Given the description of an element on the screen output the (x, y) to click on. 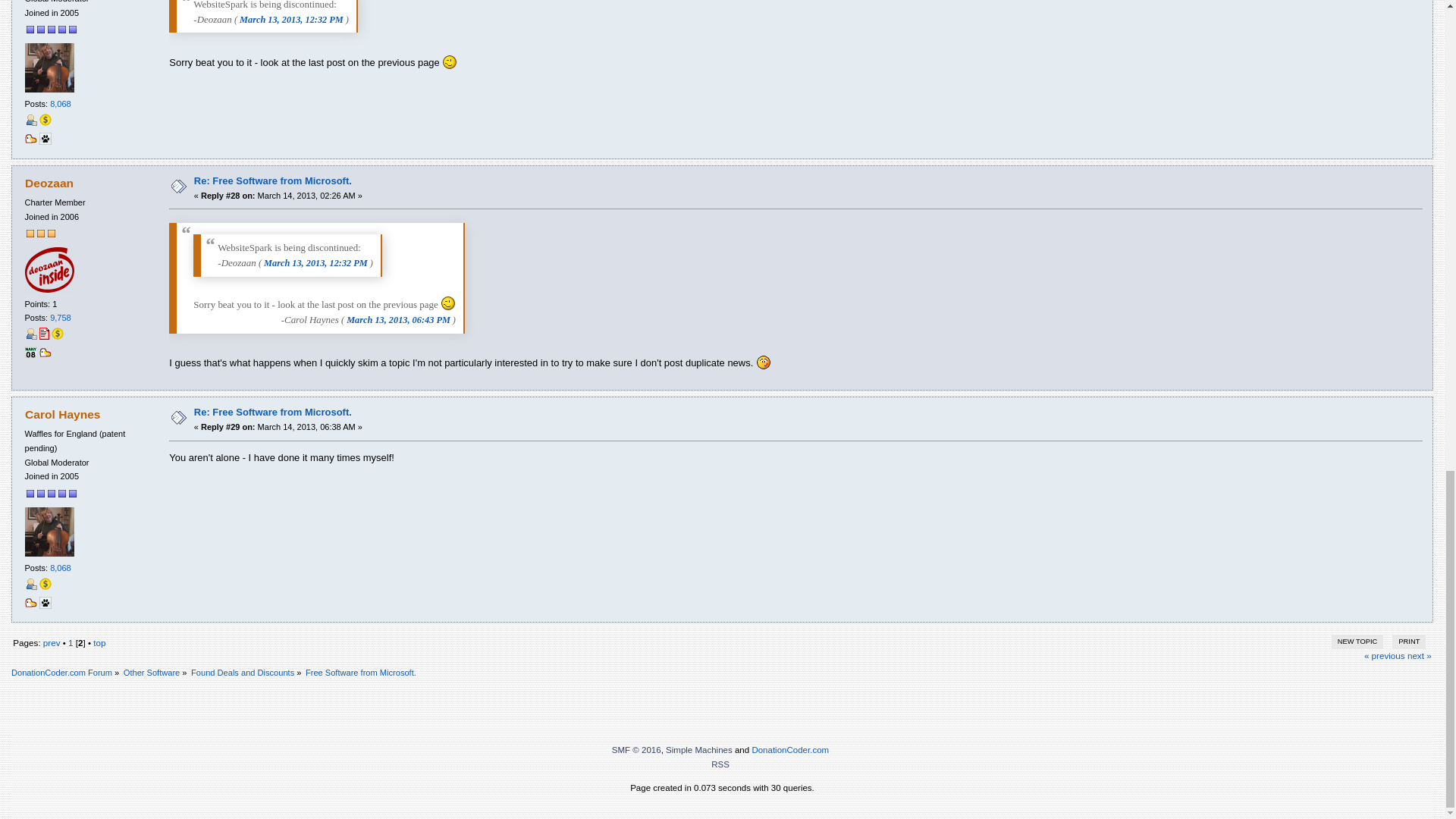
View Profile (30, 119)
Donate to Member (44, 119)
Wink (449, 61)
furry badge (44, 141)
cody badge (30, 141)
